Given the description of an element on the screen output the (x, y) to click on. 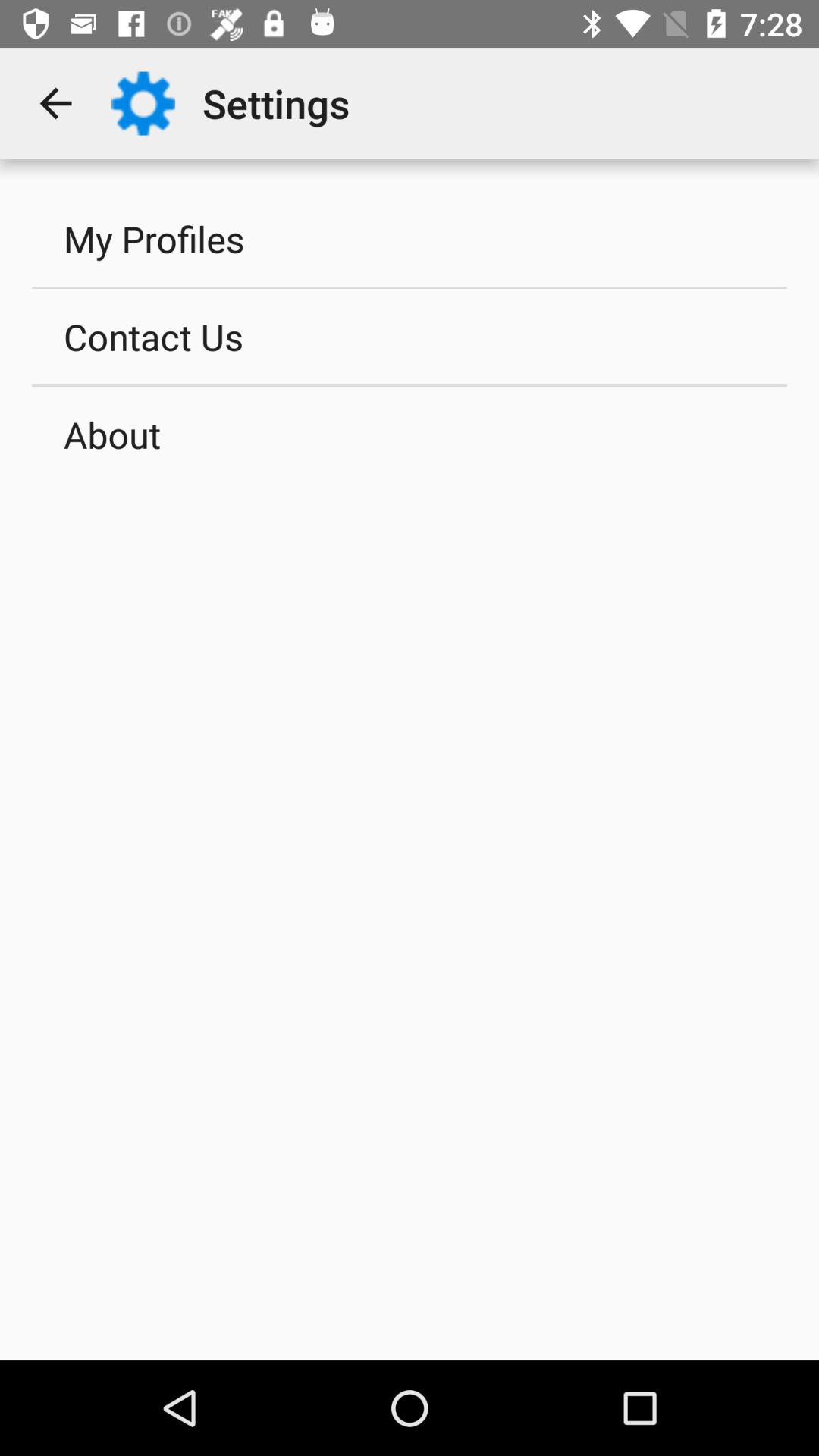
flip to about icon (409, 434)
